Given the description of an element on the screen output the (x, y) to click on. 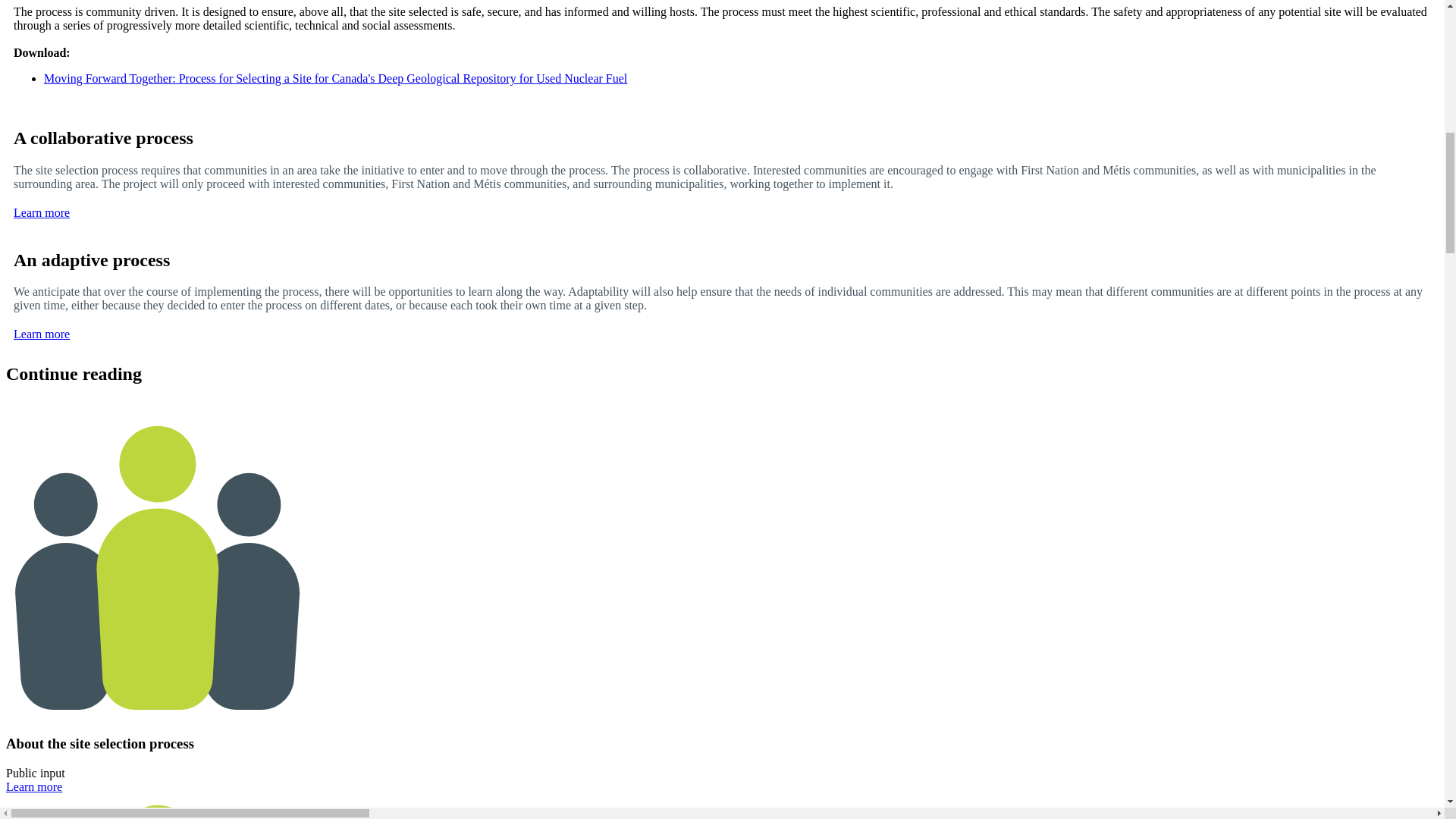
Learn more (41, 212)
Learn more (41, 333)
Learn more (33, 786)
An icon showing people (156, 566)
